Given the description of an element on the screen output the (x, y) to click on. 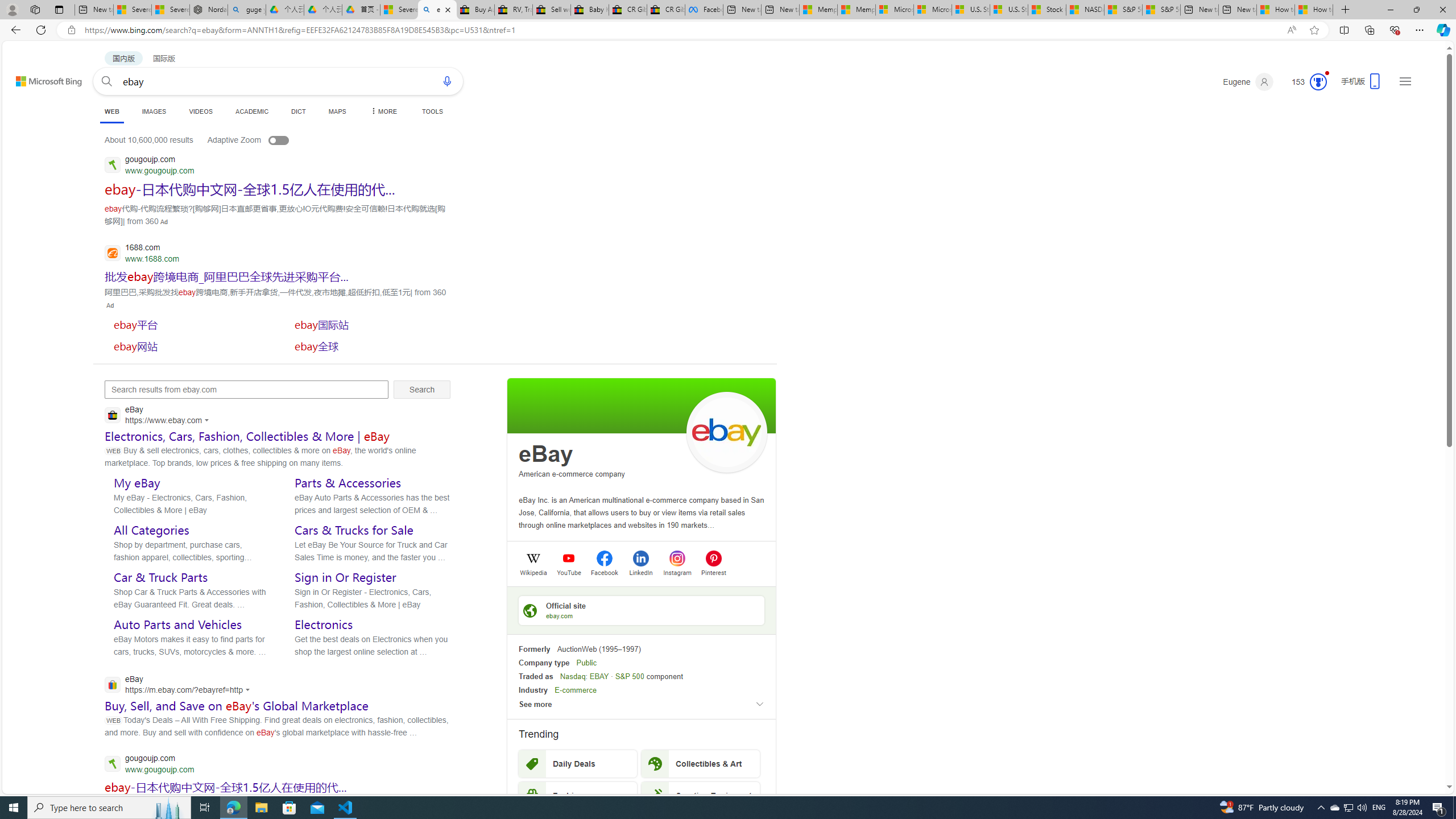
Wikipedia (533, 571)
Sporting Equipment (701, 795)
American e-commerce company (572, 474)
Car & Truck Parts (160, 577)
Electronics, Cars, Fashion, Collectibles & More | eBay (247, 436)
ACADEMIC (252, 111)
WEB (111, 111)
VIDEOS (201, 111)
How to Use a Monitor With Your Closed Laptop (1314, 9)
SERP,5704 (249, 189)
Microsoft Rewards 153 (1304, 81)
Official site ebay.com (641, 610)
Fashion (577, 795)
